Given the description of an element on the screen output the (x, y) to click on. 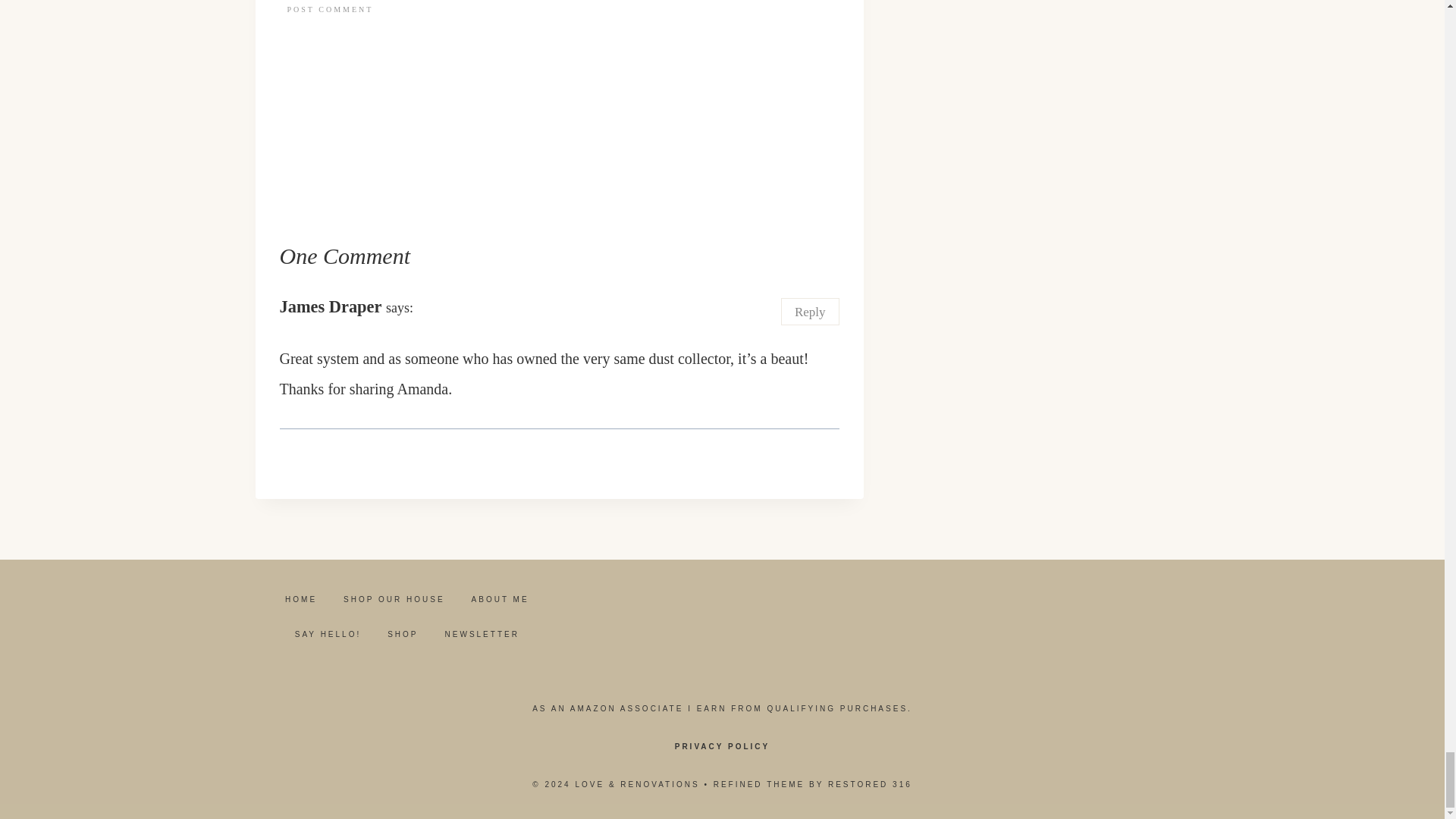
James Draper (330, 306)
Reply (810, 311)
Post Comment (329, 9)
Post Comment (329, 9)
